Given the description of an element on the screen output the (x, y) to click on. 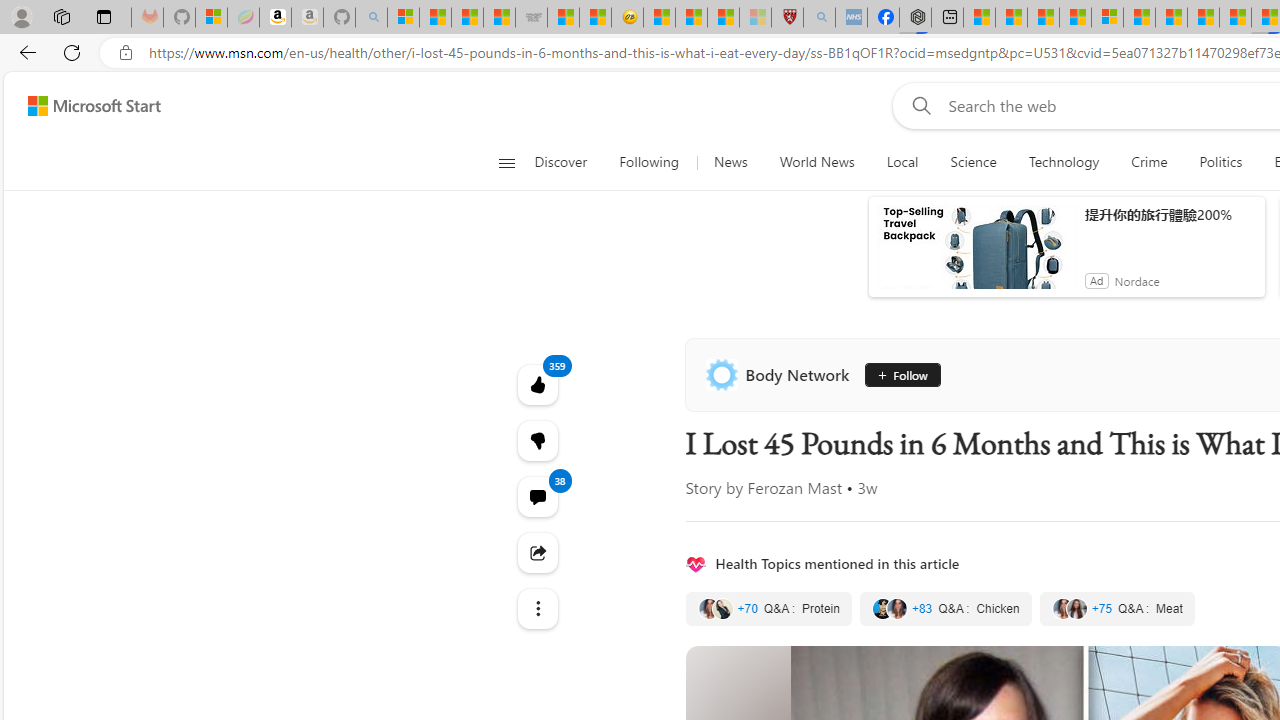
View comments 38 Comment (537, 496)
359 (537, 440)
Meat (1117, 608)
anim-content (975, 255)
Protein (768, 608)
Class: quote-thumbnail (1076, 608)
